Given the description of an element on the screen output the (x, y) to click on. 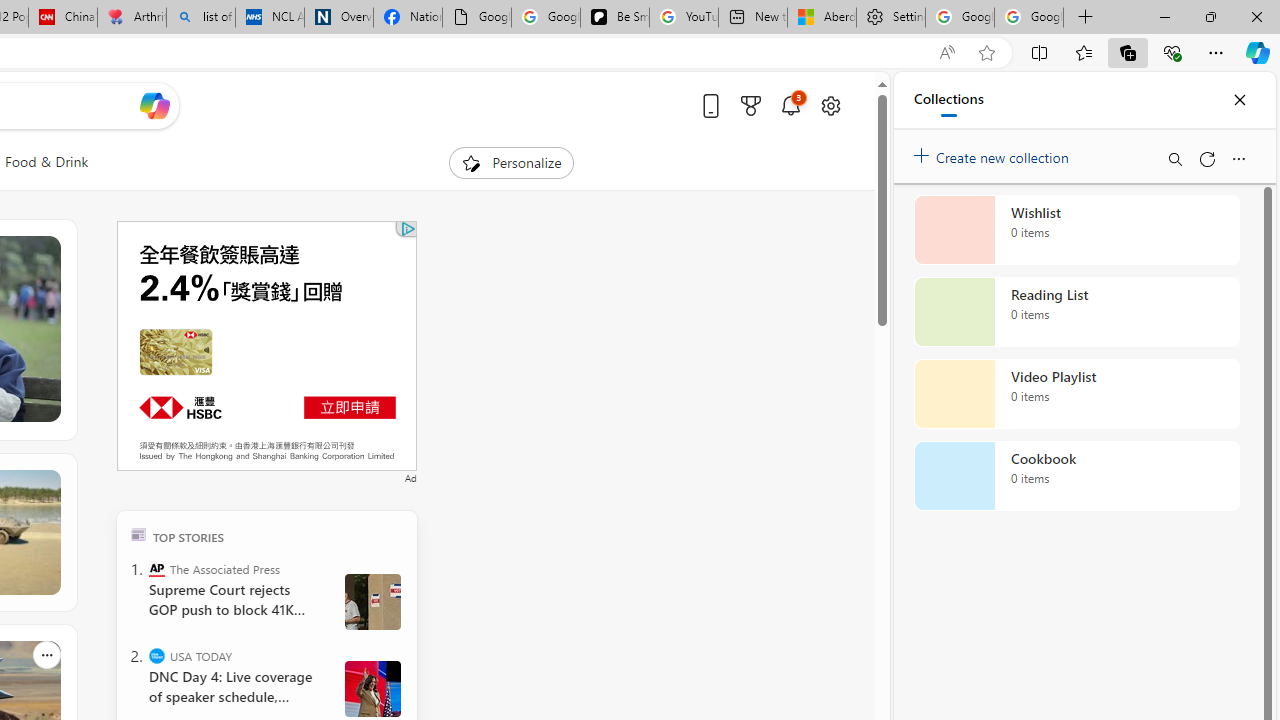
Google Analytics Opt-out Browser Add-on Download Page (476, 17)
TOP (138, 534)
USA TODAY (156, 655)
More options menu (1238, 158)
Arthritis: Ask Health Professionals (132, 17)
